Given the description of an element on the screen output the (x, y) to click on. 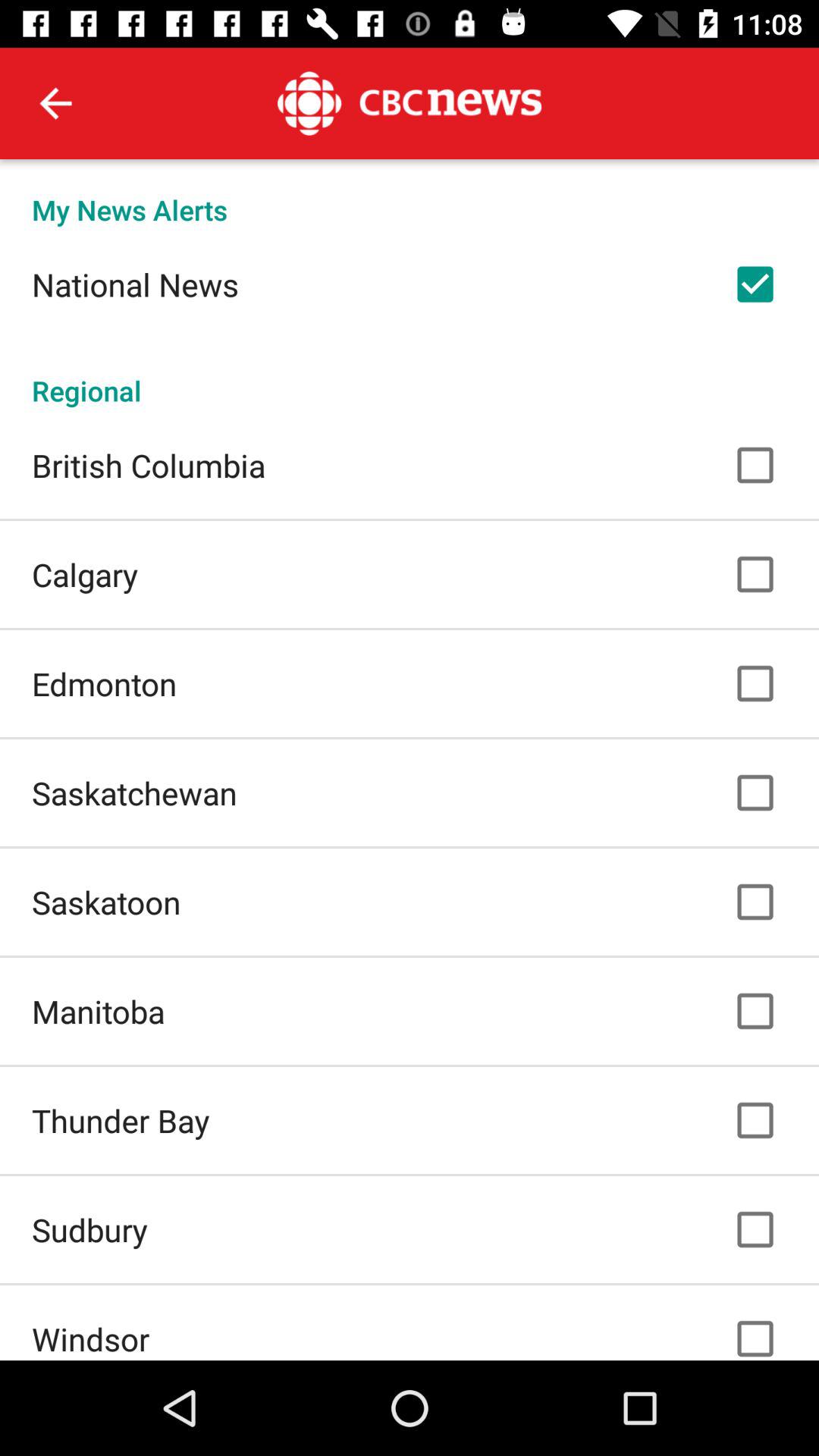
click item above saskatchewan item (103, 683)
